Given the description of an element on the screen output the (x, y) to click on. 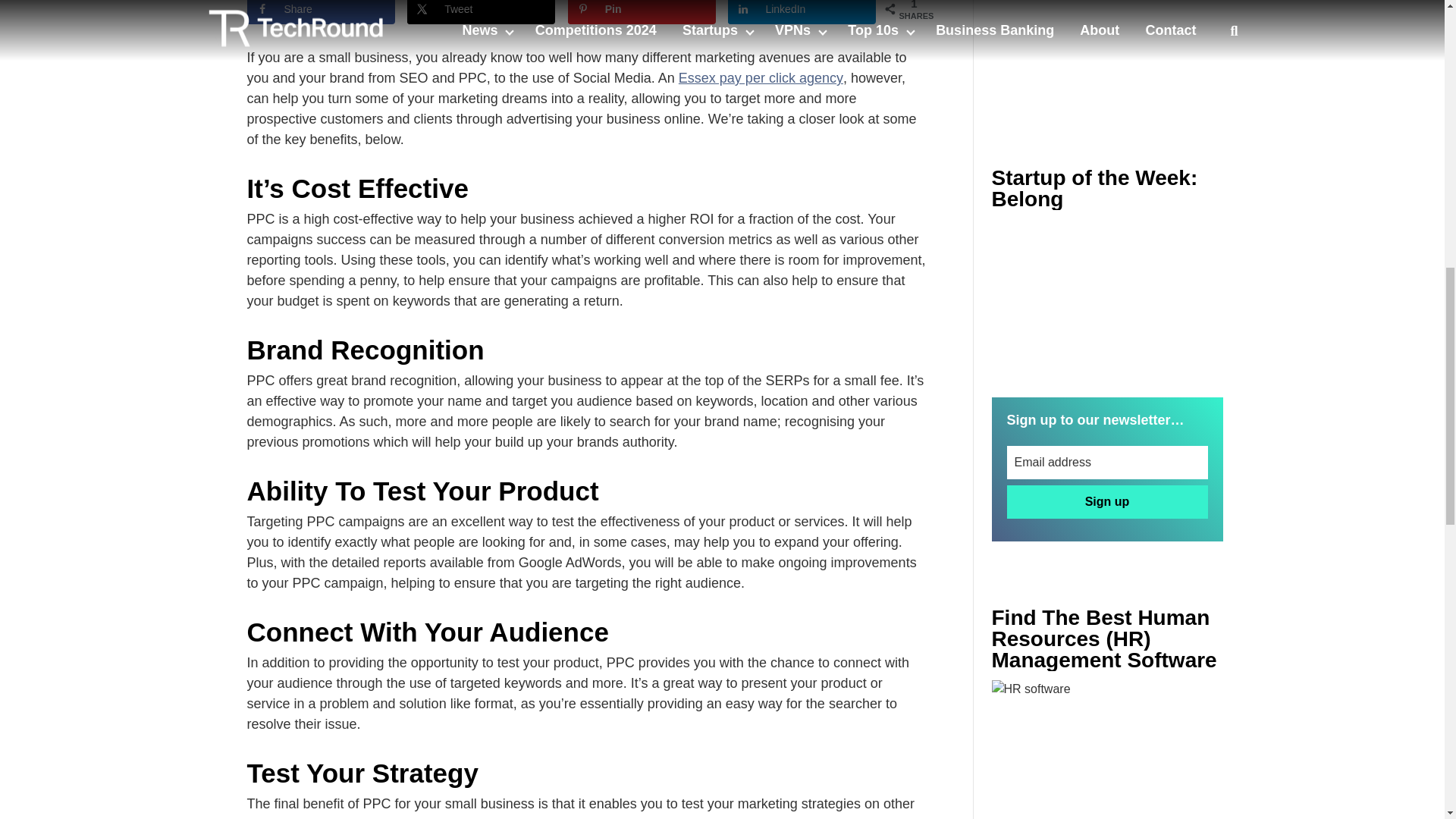
Share on Facebook (320, 12)
Share on X (480, 12)
Startup of the Week: Neon Link (1107, 296)
Share on LinkedIn (802, 12)
Save to Pinterest (641, 12)
Sign up (1107, 501)
Enter The BAME Top 50 Entrepreneurs - Deadline 10th Nov 2021 (1107, 749)
